Given the description of an element on the screen output the (x, y) to click on. 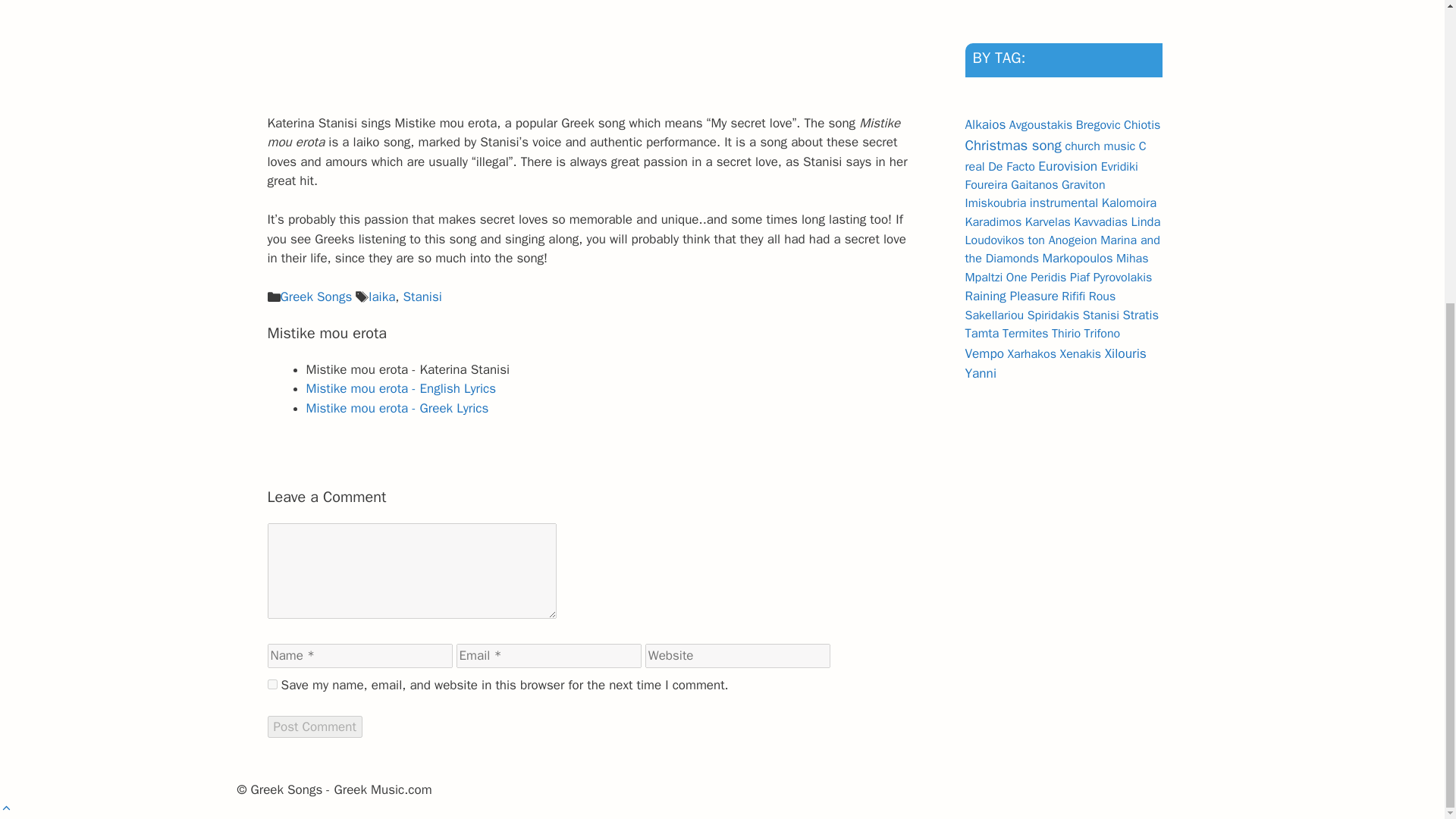
Chiotis (1142, 124)
laika (381, 296)
Mistike mou erota - English Lyrics (400, 388)
Mistike mou erota - Greek Lyrics (397, 408)
Post Comment (313, 726)
Post Comment (313, 726)
Alkaios (984, 124)
Greek Songs (316, 296)
Mistike mou erota - Greek Lyrics (397, 408)
yes (271, 684)
Stanisi (422, 296)
Mistike mou erota - English Lyrics (400, 388)
Avgoustakis (1040, 124)
Bregovic (1098, 124)
